Given the description of an element on the screen output the (x, y) to click on. 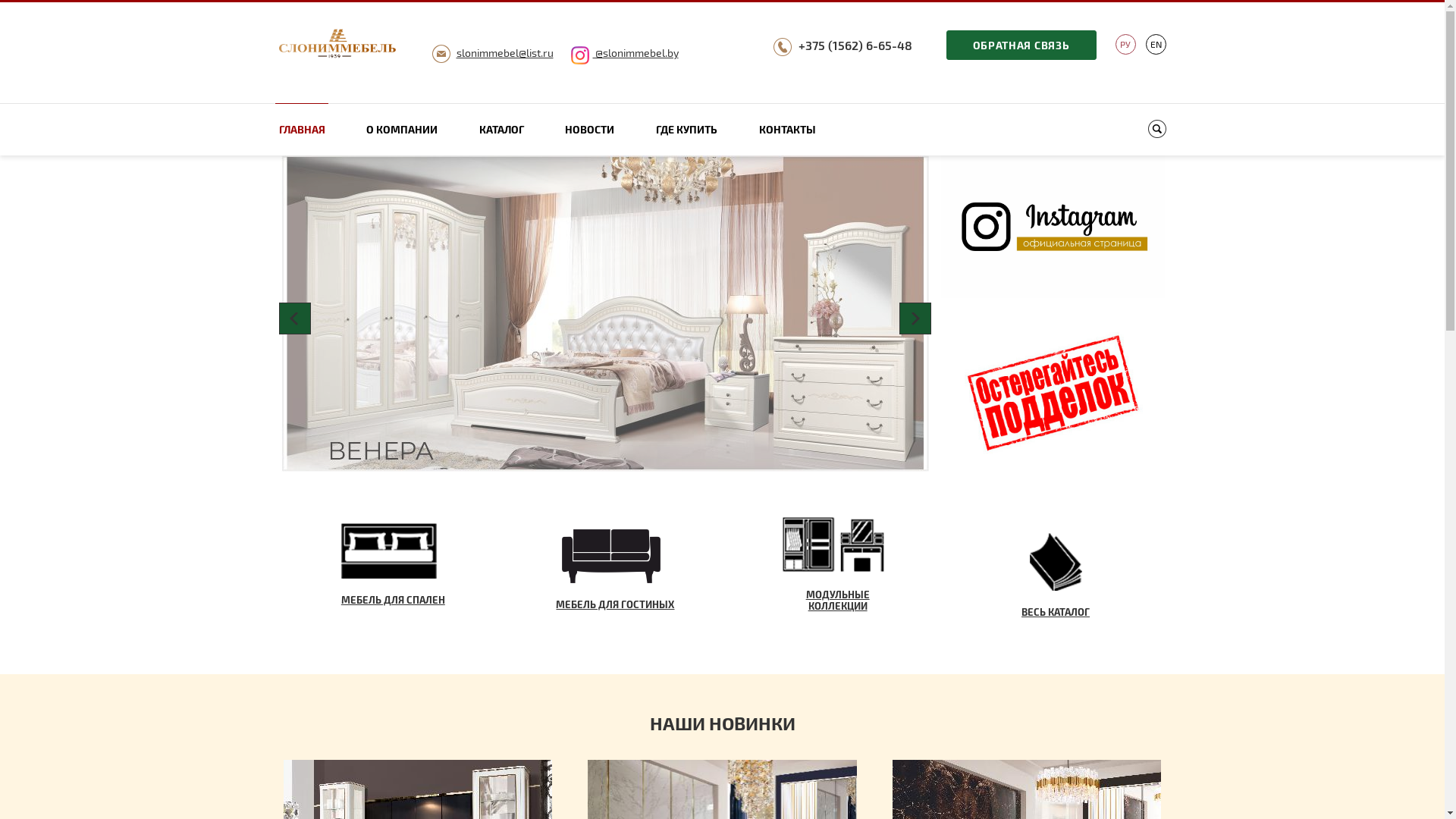
@slonimmebel.by Element type: text (623, 52)
+375 (1562) 6-65-48 Element type: text (854, 44)
Prev Element type: text (294, 318)
EN Element type: text (1155, 44)
logo r.jpg Element type: hover (337, 44)
Next Element type: text (915, 318)
slonimmebel@list.ru Element type: text (504, 52)
